Given the description of an element on the screen output the (x, y) to click on. 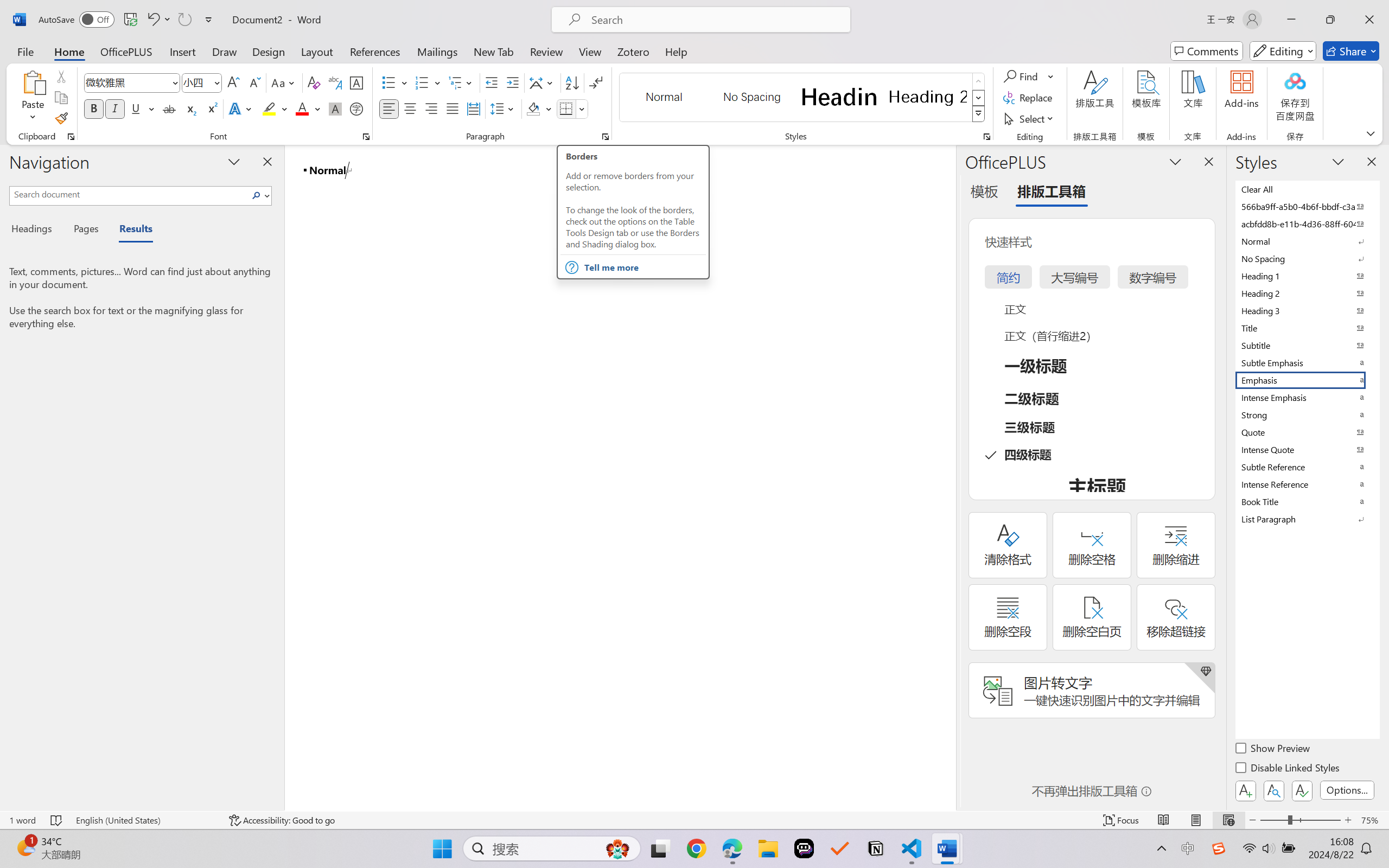
Insert (182, 51)
Select (1030, 118)
Options... (1346, 789)
Bold (94, 108)
Results (130, 229)
Zoom (1300, 819)
Read Mode (1163, 819)
Close (1369, 19)
Font (132, 82)
Headings (35, 229)
Microsoft search (715, 19)
Minimize (1291, 19)
